Given the description of an element on the screen output the (x, y) to click on. 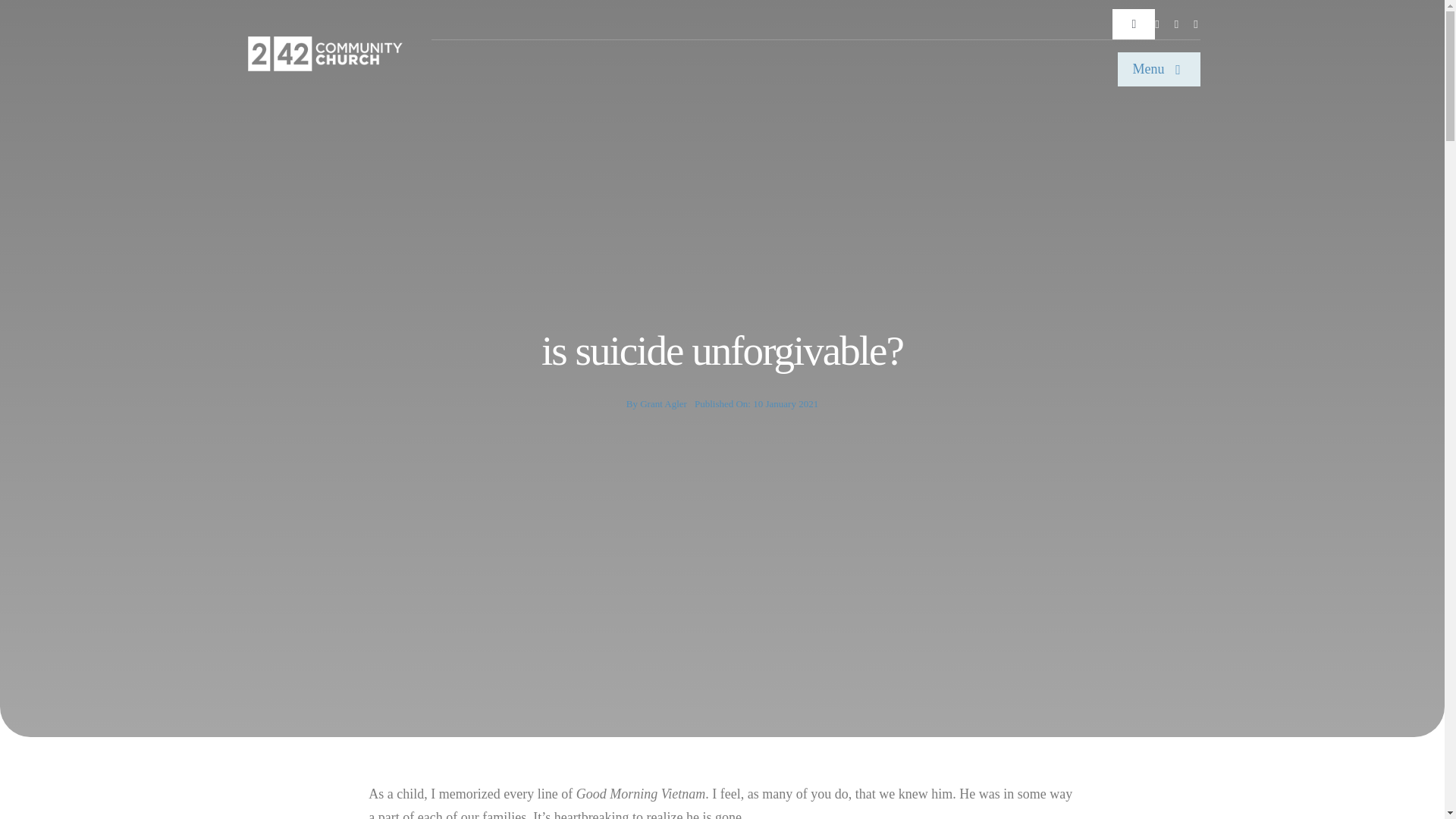
Posts by Grant Agler (663, 403)
Menu (1158, 69)
Toggle Navigation (1133, 24)
